Given the description of an element on the screen output the (x, y) to click on. 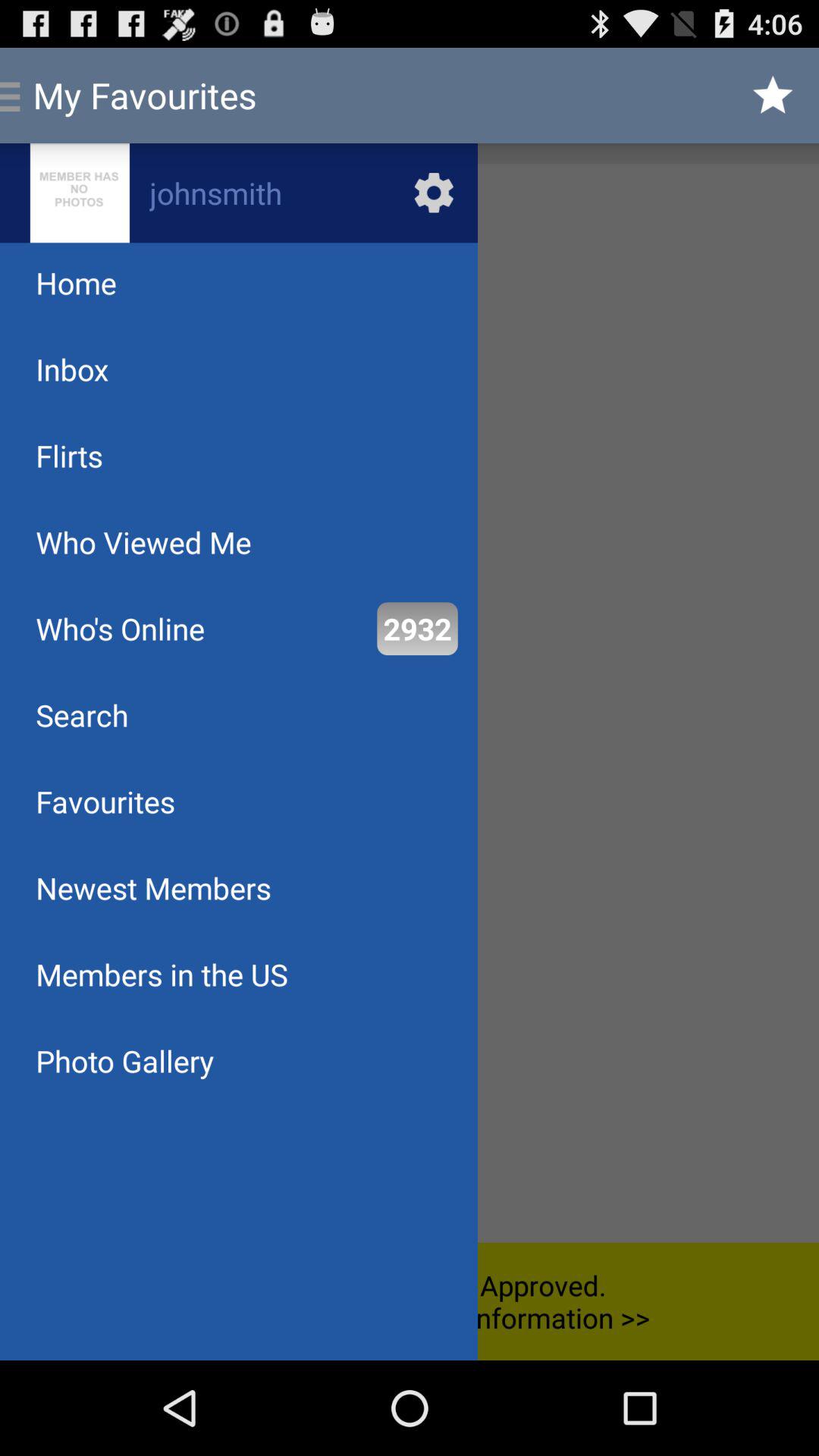
open the icon above photo gallery item (161, 974)
